Given the description of an element on the screen output the (x, y) to click on. 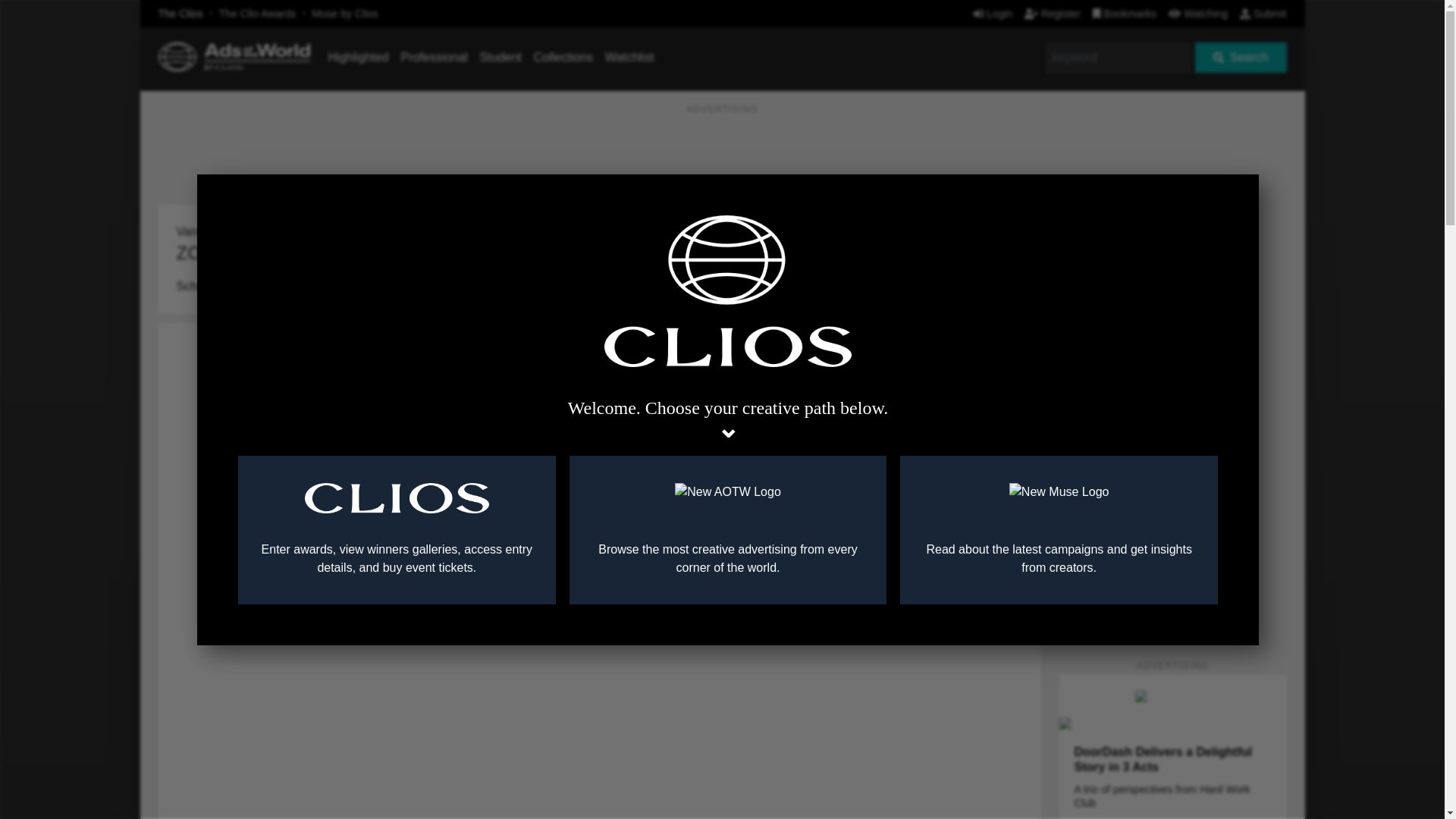
Professional (434, 56)
The Clio Awards (258, 13)
Highlighted (357, 56)
Submit (1263, 13)
Watching (1198, 13)
Collections (563, 56)
Register (1052, 13)
Bookmarks (1125, 13)
Muse by Clios (344, 13)
Student (500, 56)
Watchlist (629, 56)
Bookmarks (1125, 13)
Login to Bookmark (1018, 209)
Watching (1198, 13)
Search (1241, 57)
